Given the description of an element on the screen output the (x, y) to click on. 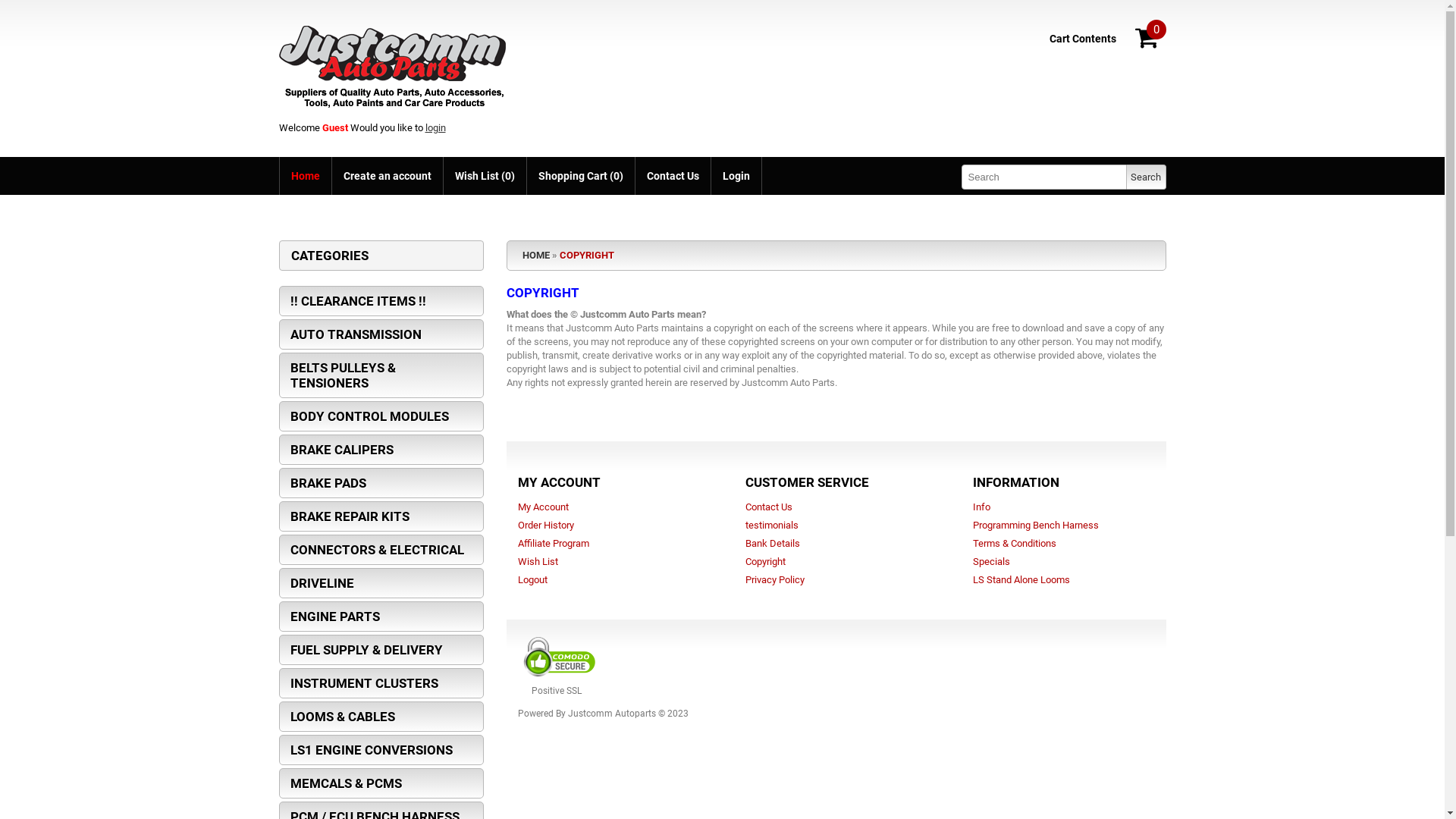
Search Element type: text (1145, 176)
ENGINE PARTS Element type: text (381, 616)
Create an account Element type: text (386, 175)
Logout Element type: text (531, 579)
BODY CONTROL MODULES Element type: text (381, 416)
LS Stand Alone Looms Element type: text (1020, 579)
DRIVELINE Element type: text (381, 582)
login Element type: text (434, 127)
Programming Bench Harness Element type: text (1035, 524)
LOOMS & CABLES Element type: text (381, 716)
Contact Us Element type: text (672, 175)
LS1 ENGINE CONVERSIONS Element type: text (381, 749)
testimonials Element type: text (770, 524)
Bank Details Element type: text (771, 543)
BELTS PULLEYS & TENSIONERS Element type: text (381, 375)
INSTRUMENT CLUSTERS Element type: text (381, 683)
MEMCALS & PCMS Element type: text (381, 783)
BRAKE PADS Element type: text (381, 482)
CONNECTORS & ELECTRICAL Element type: text (381, 549)
BRAKE CALIPERS Element type: text (381, 449)
Order History Element type: text (545, 524)
!! CLEARANCE ITEMS !! Element type: text (381, 300)
My Account Element type: text (542, 506)
Positive SSL Element type: text (960, 690)
HOME Element type: text (535, 254)
Copyright Element type: text (764, 561)
BRAKE REPAIR KITS Element type: text (381, 516)
Contact Us Element type: text (767, 506)
Privacy Policy Element type: text (773, 579)
Wish List (0) Element type: text (484, 175)
Shopping Cart (0) Element type: text (580, 175)
Home Element type: text (305, 175)
COPYRIGHT Element type: text (586, 254)
AUTO TRANSMISSION Element type: text (381, 334)
FUEL SUPPLY & DELIVERY Element type: text (381, 649)
Terms & Conditions Element type: text (1013, 543)
Justcomm Autoparts Element type: hover (393, 63)
Info Element type: text (980, 506)
Wish List Element type: text (537, 561)
Affiliate Program Element type: text (552, 543)
Specials Element type: text (990, 561)
Login Element type: text (735, 175)
